Given the description of an element on the screen output the (x, y) to click on. 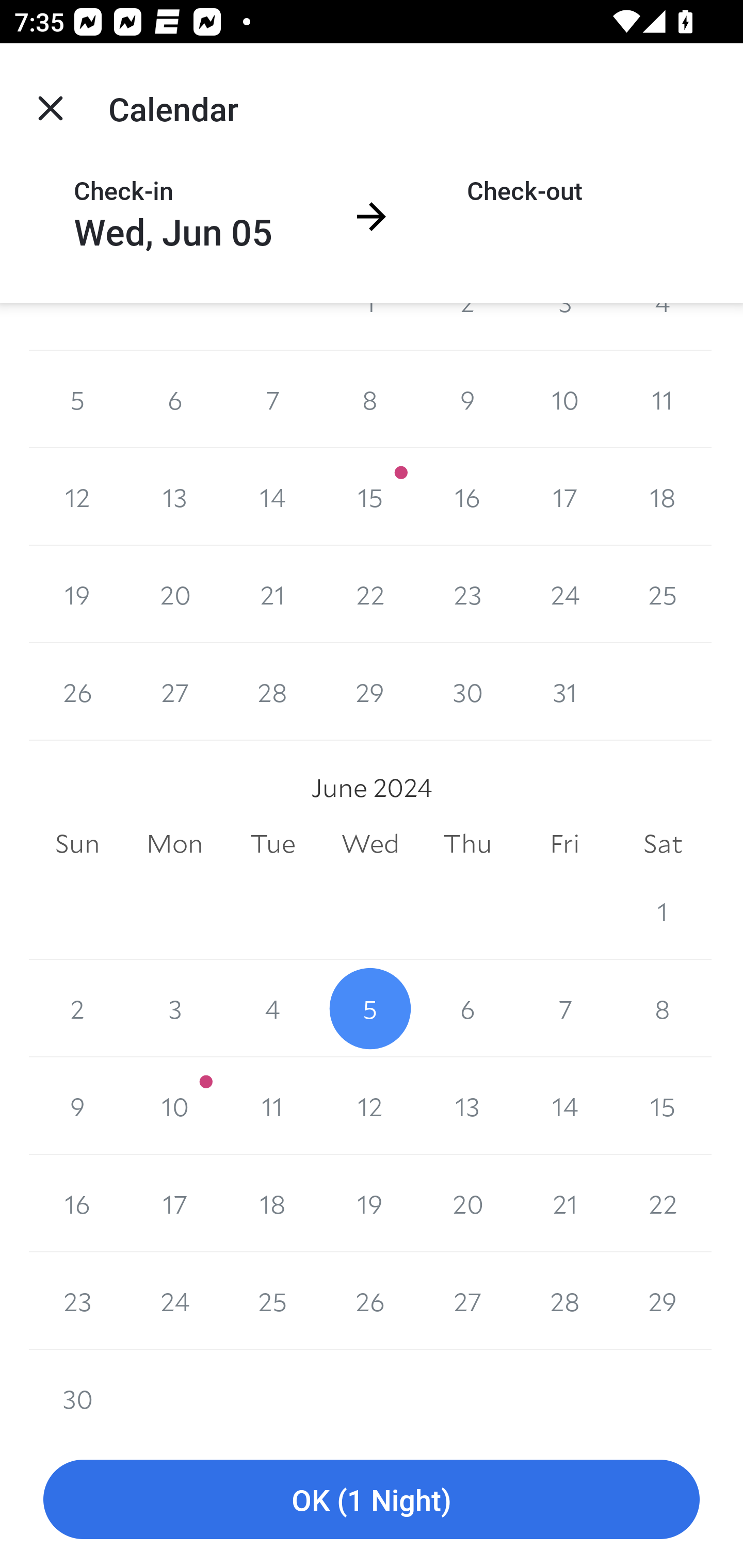
5 5 May 2024 (77, 399)
6 6 May 2024 (174, 399)
7 7 May 2024 (272, 399)
8 8 May 2024 (370, 399)
9 9 May 2024 (467, 399)
10 10 May 2024 (564, 399)
11 11 May 2024 (662, 399)
12 12 May 2024 (77, 496)
13 13 May 2024 (174, 496)
14 14 May 2024 (272, 496)
15 15 May 2024 (370, 496)
16 16 May 2024 (467, 496)
17 17 May 2024 (564, 496)
18 18 May 2024 (662, 496)
19 19 May 2024 (77, 593)
20 20 May 2024 (174, 593)
21 21 May 2024 (272, 593)
22 22 May 2024 (370, 593)
23 23 May 2024 (467, 593)
24 24 May 2024 (564, 593)
25 25 May 2024 (662, 593)
26 26 May 2024 (77, 691)
27 27 May 2024 (174, 691)
28 28 May 2024 (272, 691)
29 29 May 2024 (370, 691)
30 30 May 2024 (467, 691)
31 31 May 2024 (564, 691)
Sun (77, 843)
Mon (174, 843)
Tue (272, 843)
Wed (370, 843)
Thu (467, 843)
Fri (564, 843)
Sat (662, 843)
1 1 June 2024 (662, 910)
2 2 June 2024 (77, 1007)
3 3 June 2024 (174, 1007)
4 4 June 2024 (272, 1007)
5 5 June 2024 (370, 1007)
6 6 June 2024 (467, 1007)
7 7 June 2024 (564, 1007)
8 8 June 2024 (662, 1007)
9 9 June 2024 (77, 1105)
10 10 June 2024 (174, 1105)
11 11 June 2024 (272, 1105)
12 12 June 2024 (370, 1105)
13 13 June 2024 (467, 1105)
14 14 June 2024 (564, 1105)
15 15 June 2024 (662, 1105)
